Given the description of an element on the screen output the (x, y) to click on. 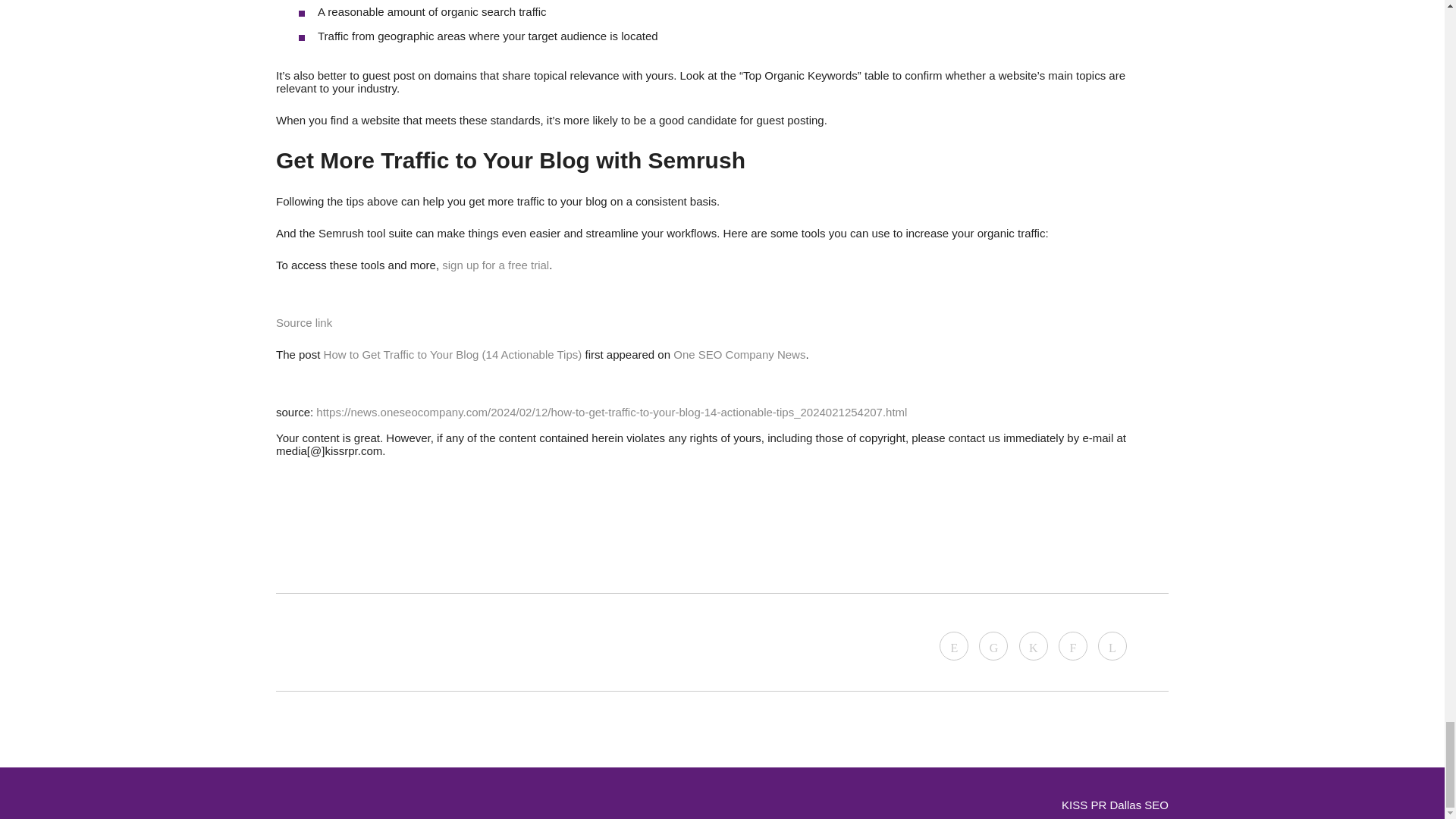
sign up for a free trial (495, 264)
